Given the description of an element on the screen output the (x, y) to click on. 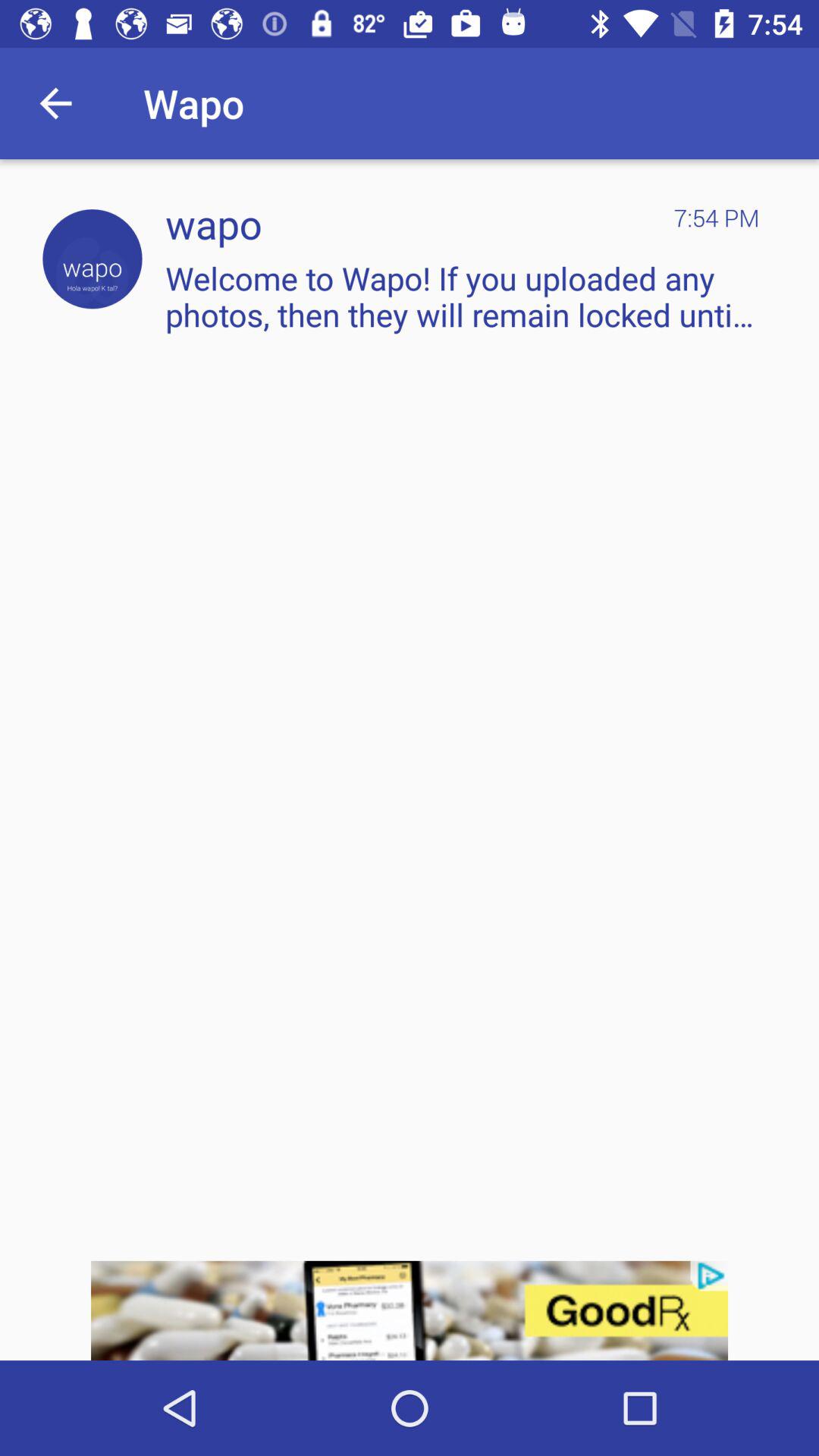
open app (92, 258)
